Given the description of an element on the screen output the (x, y) to click on. 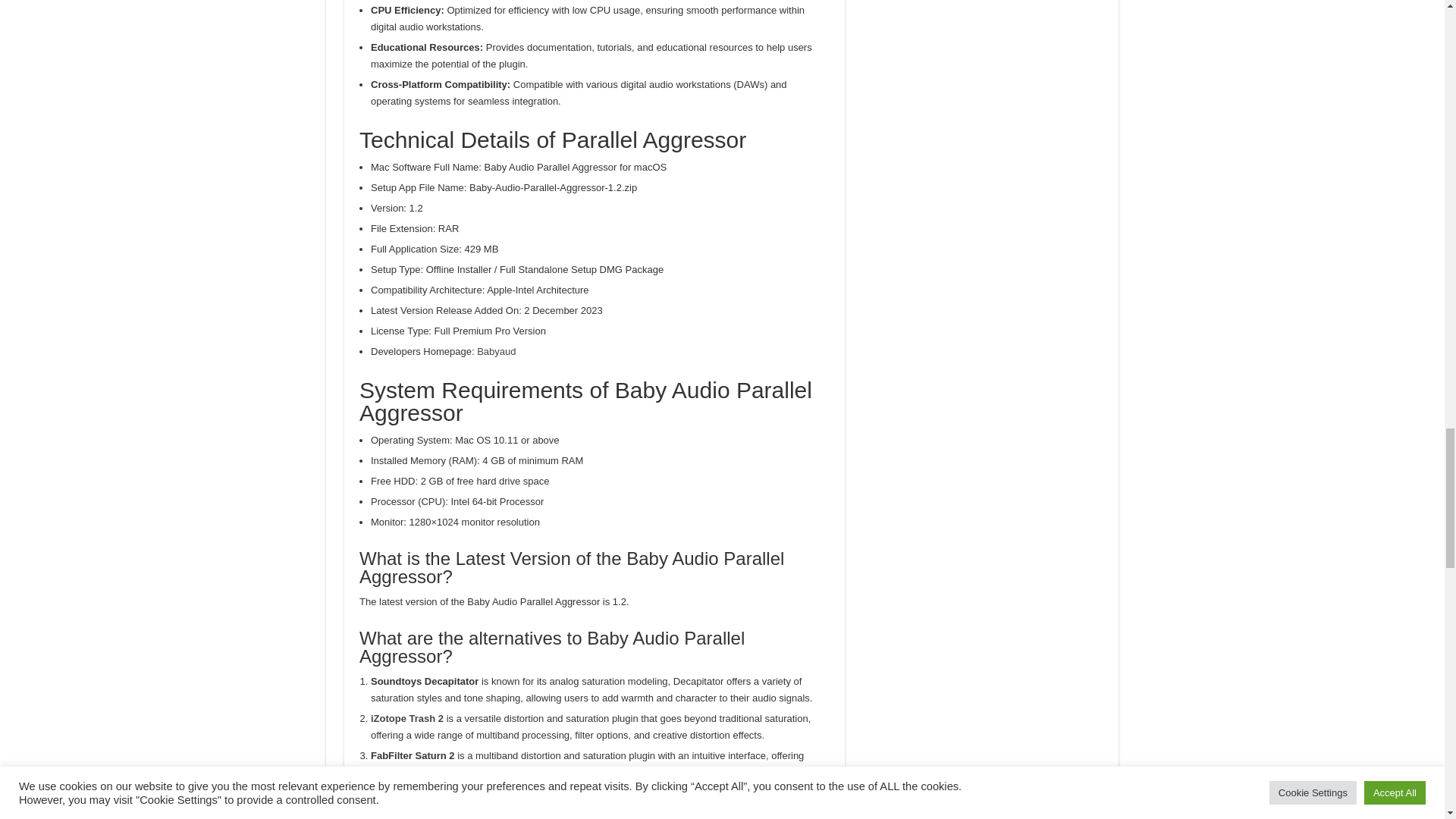
Babyaud (496, 351)
iZotope Trash 2 (407, 717)
